Given the description of an element on the screen output the (x, y) to click on. 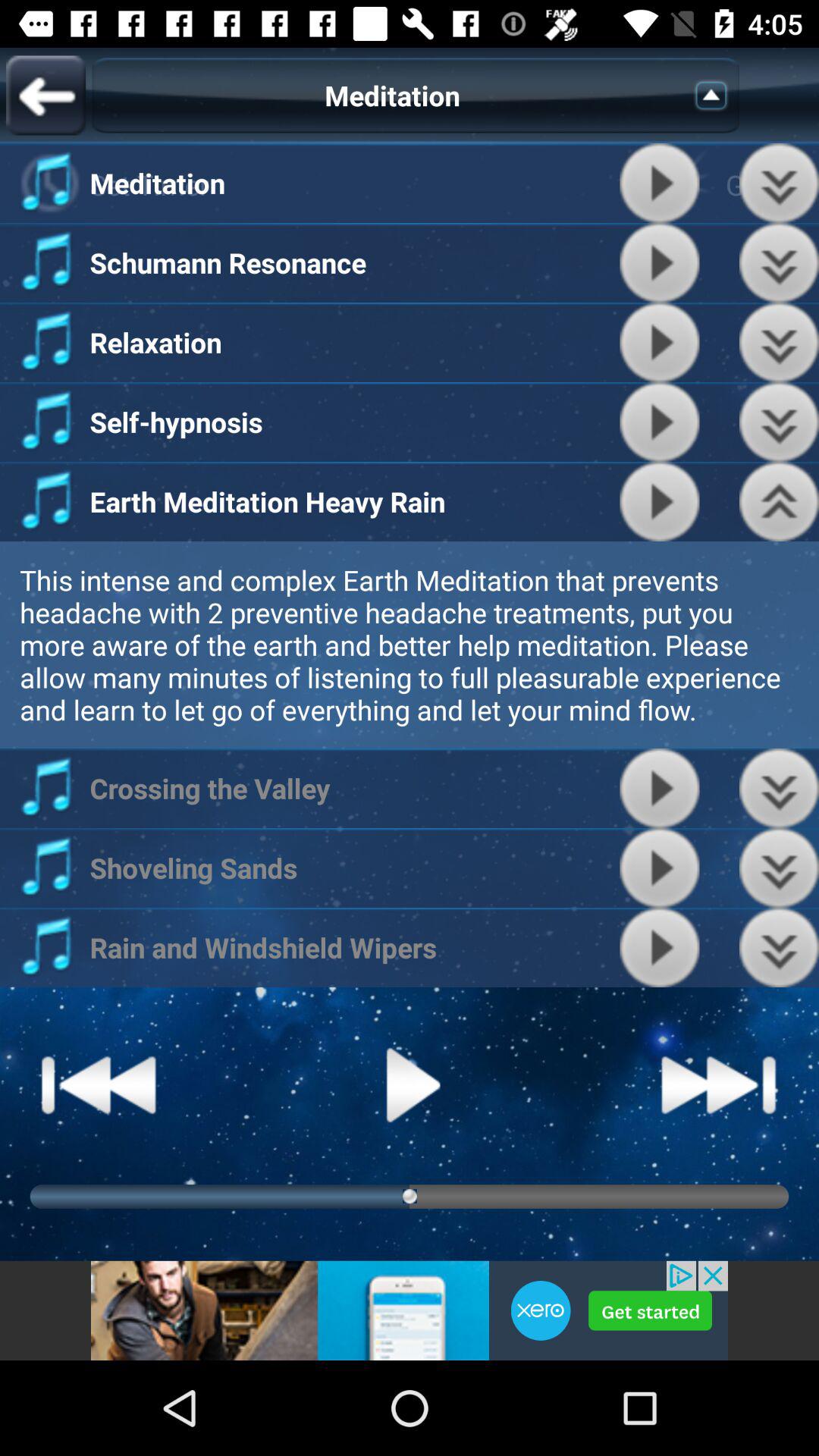
go to prvious (779, 867)
